Given the description of an element on the screen output the (x, y) to click on. 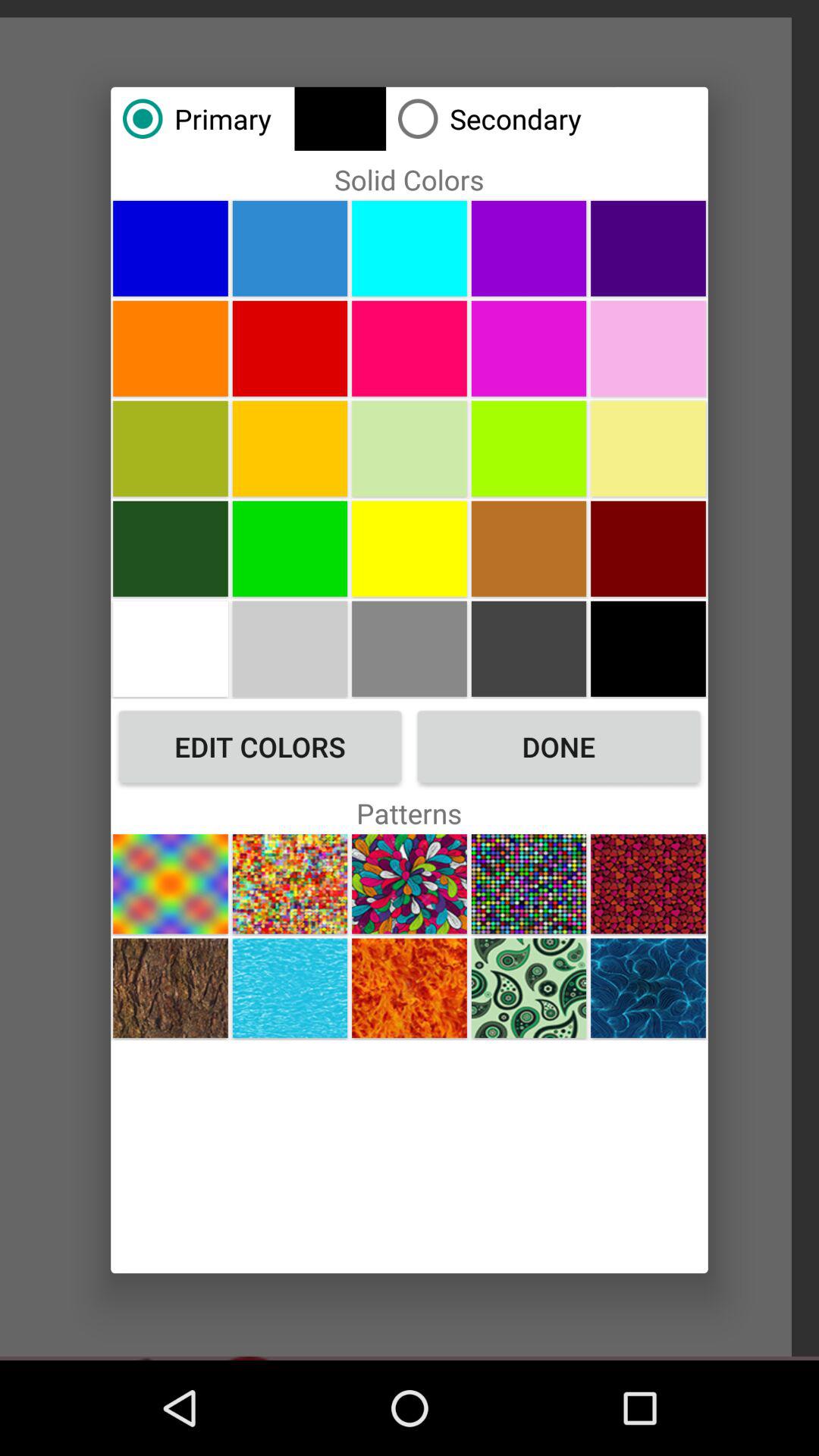
choose purple color (647, 248)
